Given the description of an element on the screen output the (x, y) to click on. 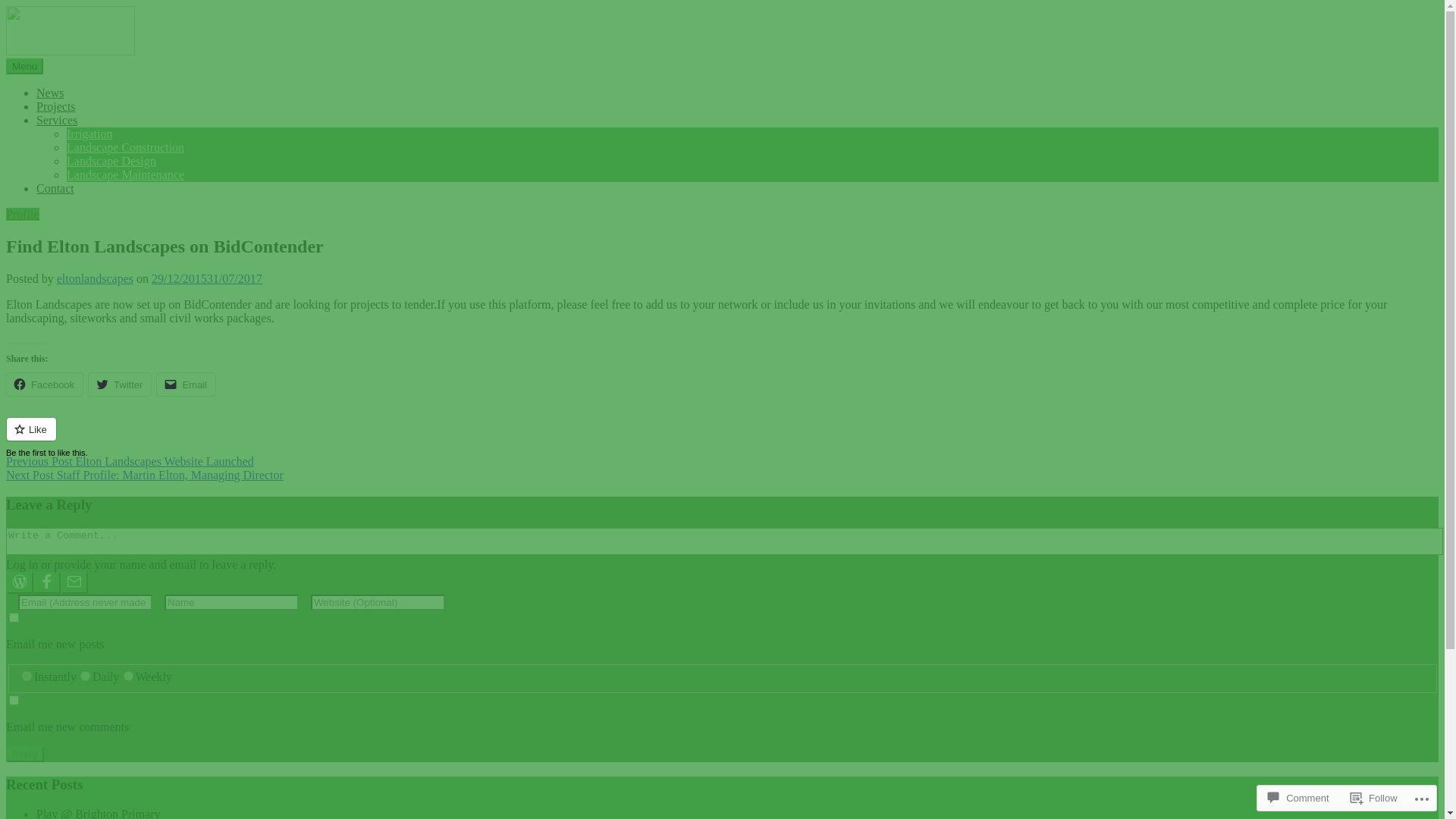
Next Post Staff Profile: Martin Elton, Managing Director Element type: text (722, 475)
Twitter Element type: text (119, 384)
Comment Element type: text (1297, 797)
Contact Element type: text (55, 188)
Reply Element type: text (24, 754)
Menu Element type: text (24, 66)
eltonlandscapes Element type: text (94, 278)
Like or Reblog Element type: hover (722, 437)
Previous Post Elton Landscapes Website Launched Element type: text (722, 461)
Facebook Element type: text (44, 384)
News Element type: text (49, 92)
Profile Element type: text (22, 213)
Services Element type: text (56, 119)
Landscape Maintenance Element type: text (125, 174)
29/12/201531/07/2017 Element type: text (206, 278)
Email Element type: text (185, 384)
Elton Landscapes Element type: text (98, 87)
Irrigation Element type: text (89, 133)
Projects Element type: text (55, 106)
Landscape Construction Element type: text (125, 147)
Follow Element type: text (1373, 797)
Landscape Design Element type: text (111, 160)
